Given the description of an element on the screen output the (x, y) to click on. 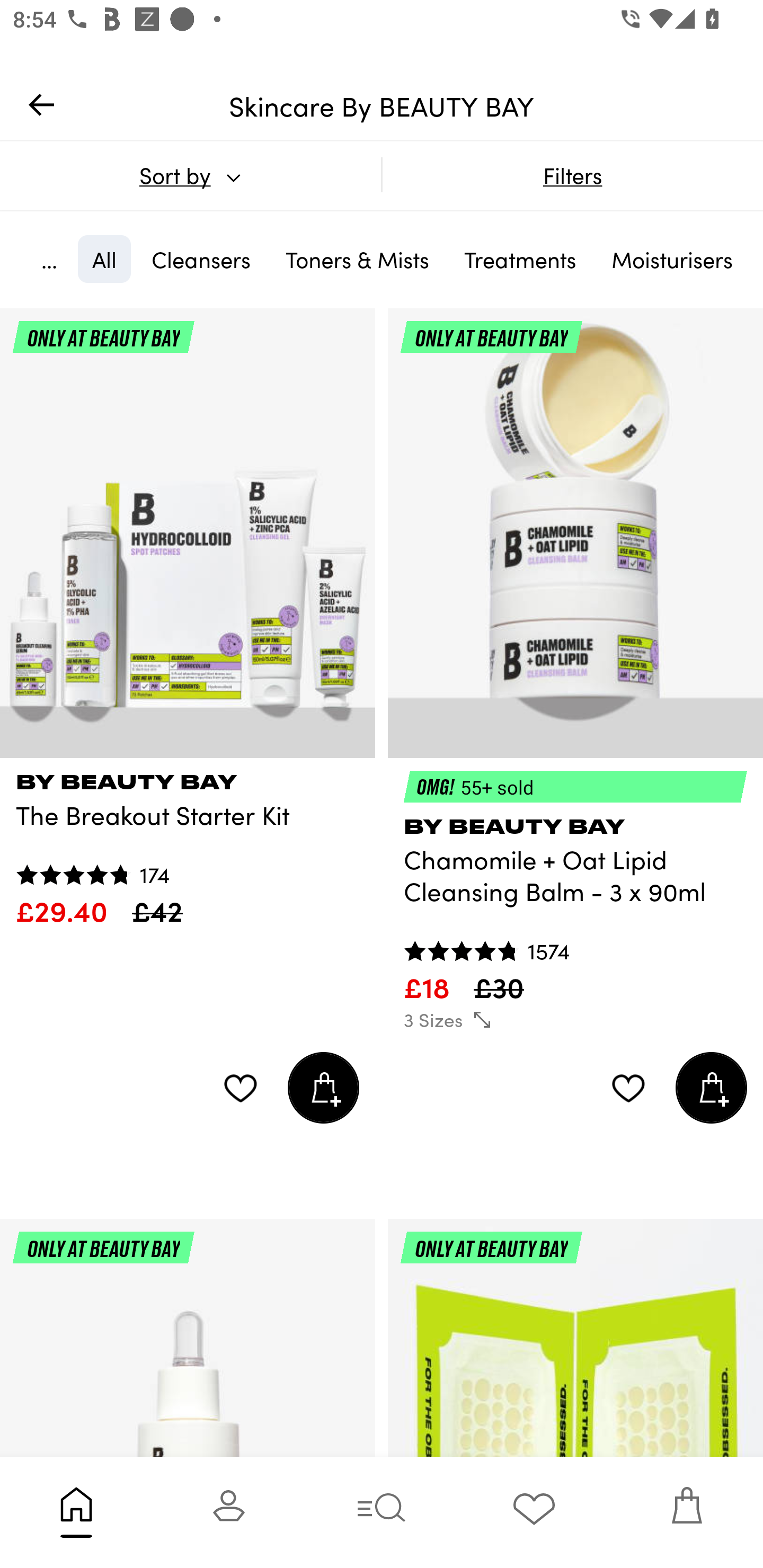
Sort by (190, 174)
Filters (572, 174)
... (48, 258)
All (104, 258)
Cleansers (200, 258)
Toners & Mists (357, 258)
Treatments (520, 258)
Moisturisers (671, 258)
